Given the description of an element on the screen output the (x, y) to click on. 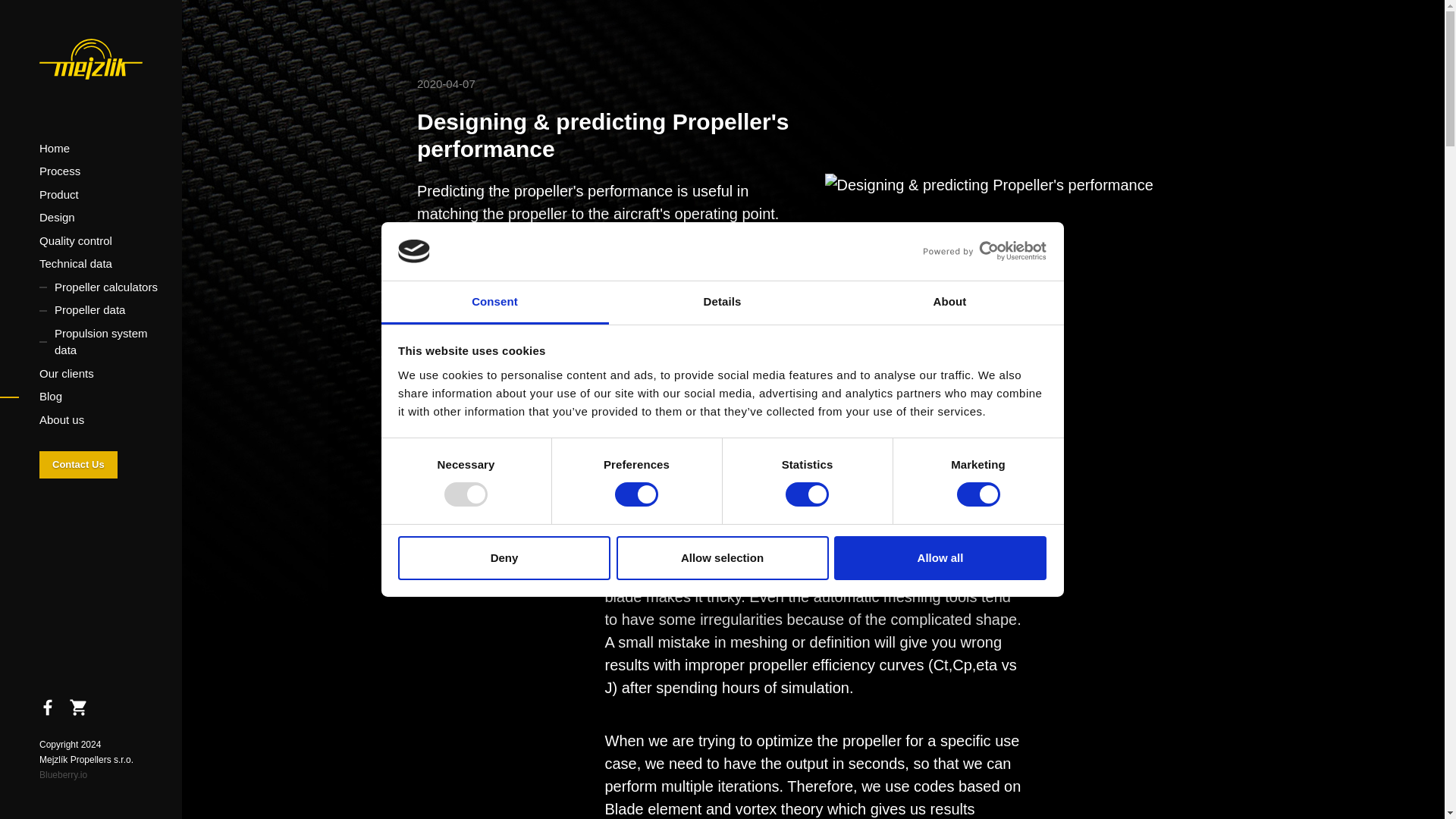
Deny (503, 557)
Details (721, 302)
About (948, 302)
Allow all (940, 557)
Consent (494, 302)
Contact Us (78, 464)
Allow selection (721, 557)
